Given the description of an element on the screen output the (x, y) to click on. 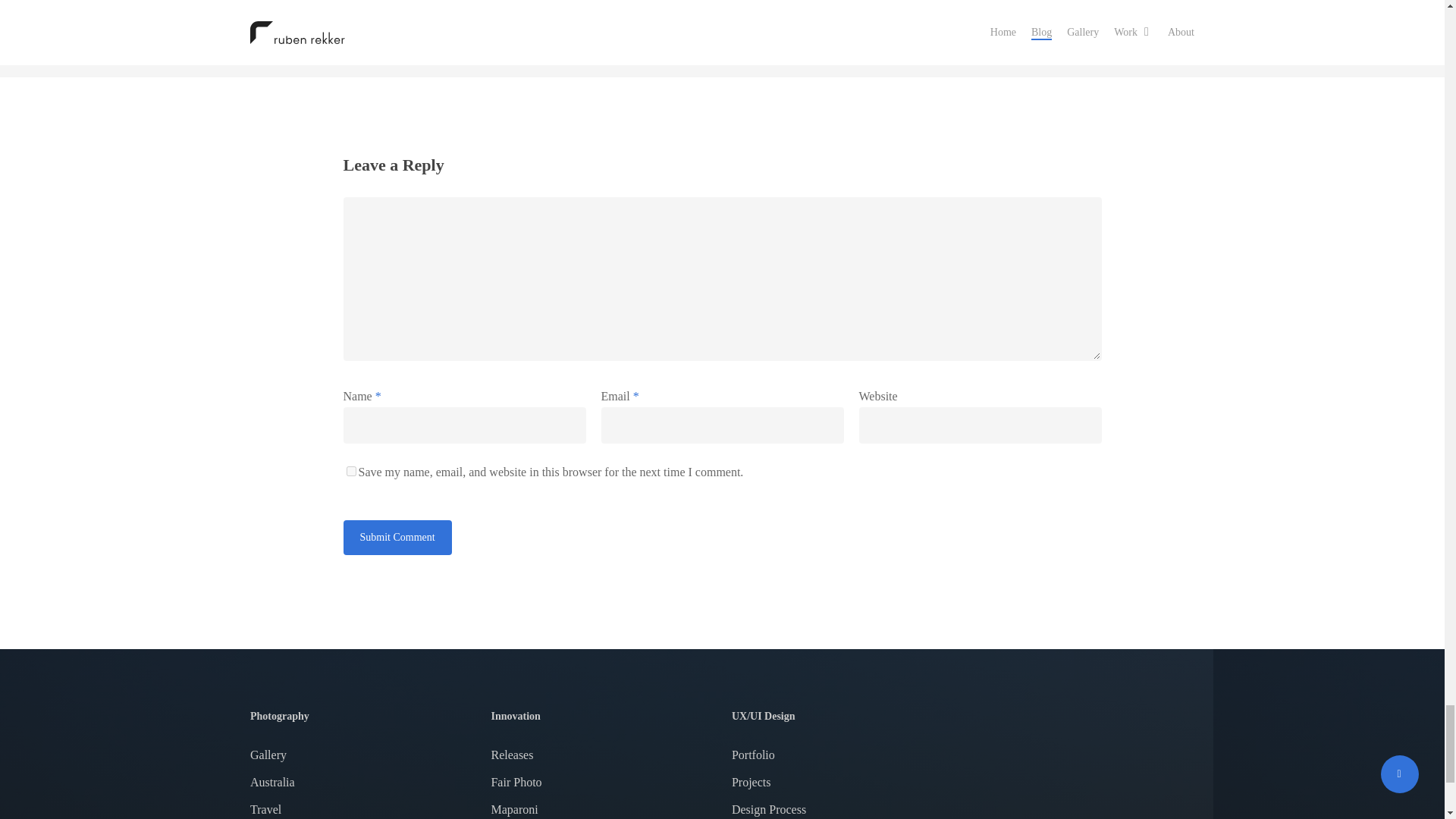
yes (350, 470)
Photography (360, 716)
Submit Comment (396, 537)
Submit Comment (396, 537)
Gallery (360, 754)
